Given the description of an element on the screen output the (x, y) to click on. 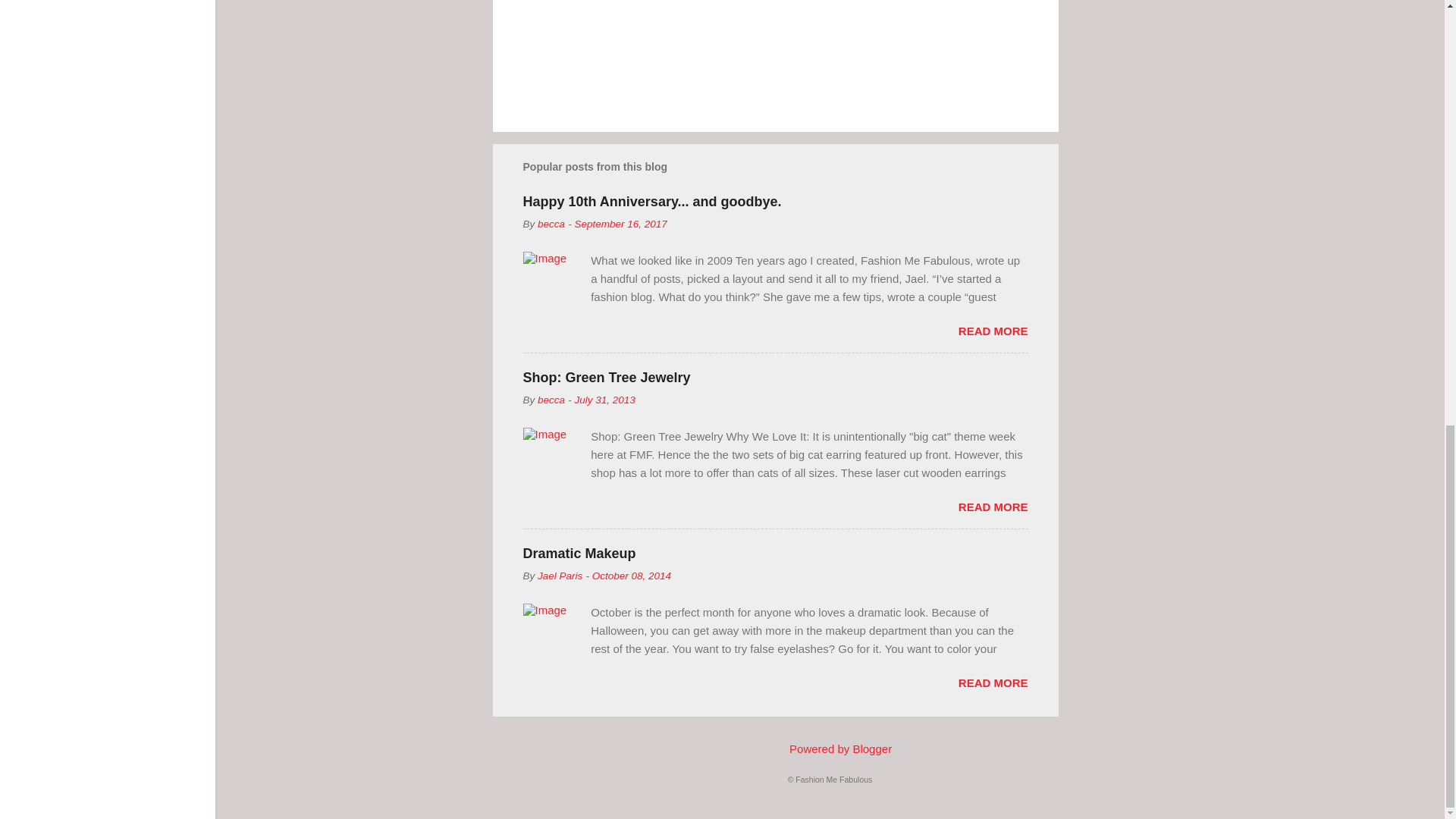
September 16, 2017 (619, 224)
Dramatic Makeup (579, 553)
READ MORE (992, 506)
Powered by Blogger (829, 748)
Shop: Green Tree Jewelry (606, 377)
Advertisement (1118, 56)
Happy 10th Anniversary... and goodbye. (651, 201)
July 31, 2013 (603, 399)
October 08, 2014 (631, 575)
READ MORE (992, 682)
READ MORE (992, 330)
Jael Paris (559, 575)
becca (550, 399)
becca (550, 224)
